Given the description of an element on the screen output the (x, y) to click on. 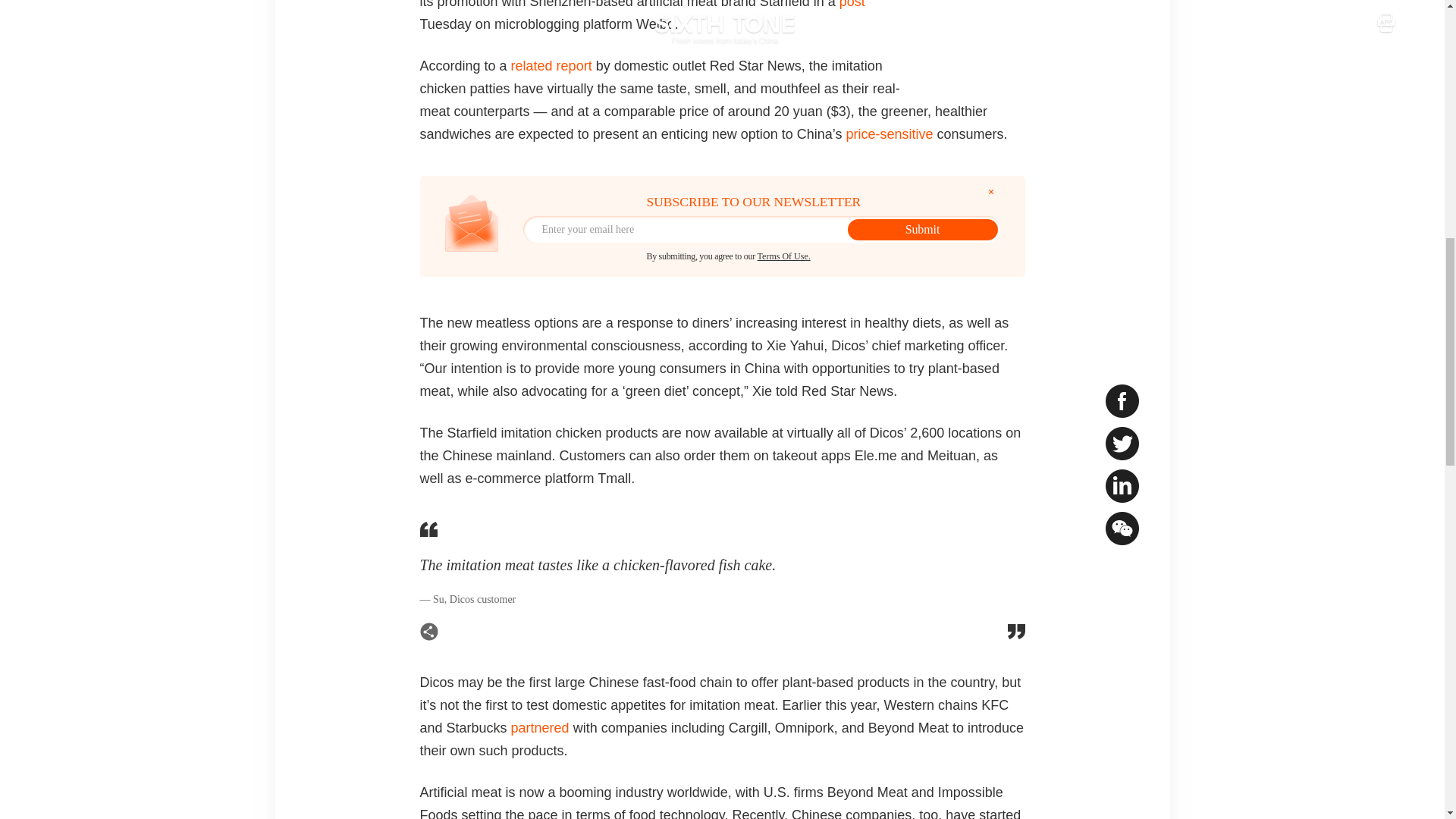
price-sensitive (889, 133)
partnered (540, 727)
related report (551, 65)
post (852, 4)
Terms Of Use. (783, 255)
3rd party ad content (979, 31)
